Given the description of an element on the screen output the (x, y) to click on. 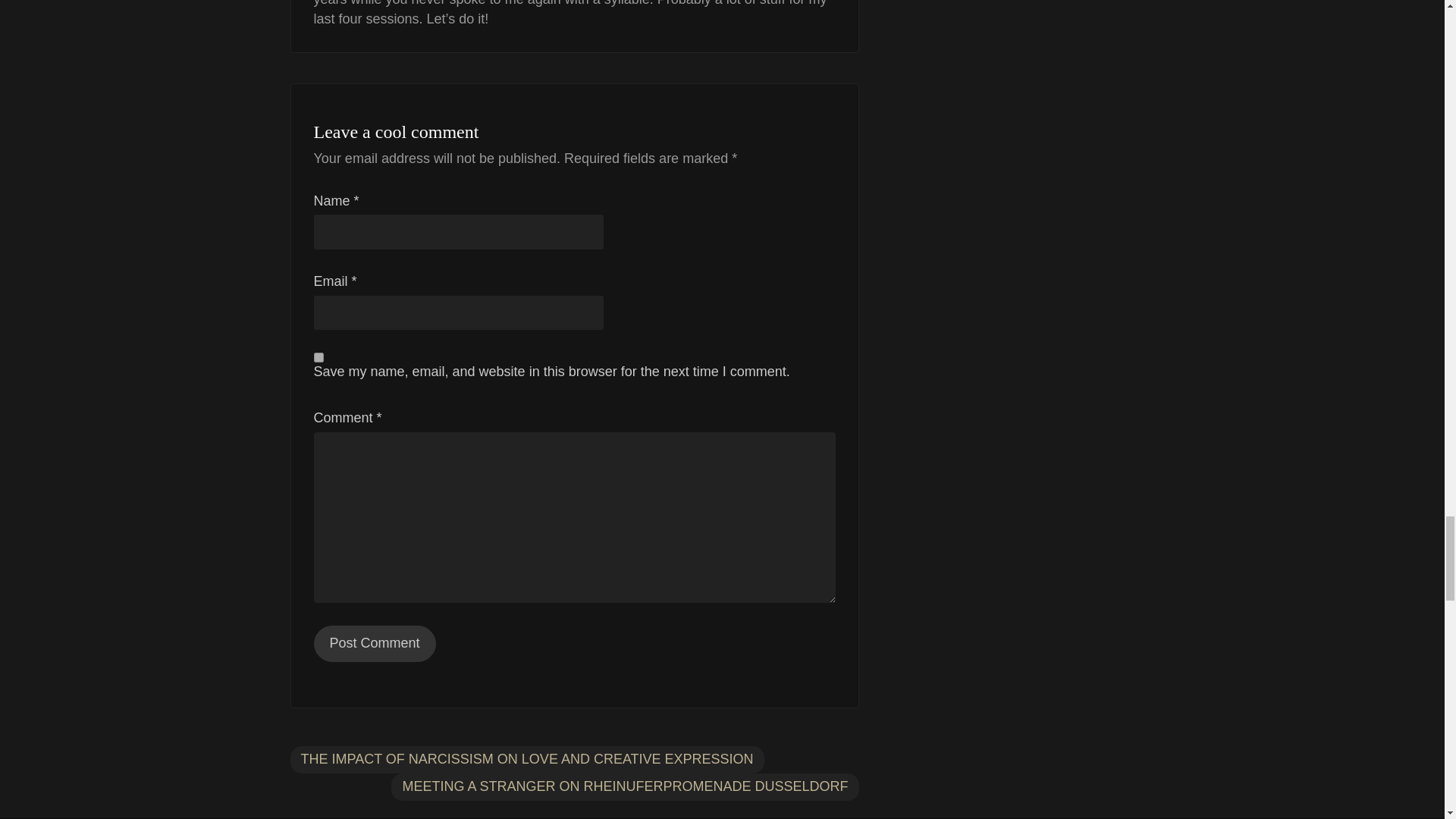
yes (318, 357)
Post Comment (374, 643)
